Given the description of an element on the screen output the (x, y) to click on. 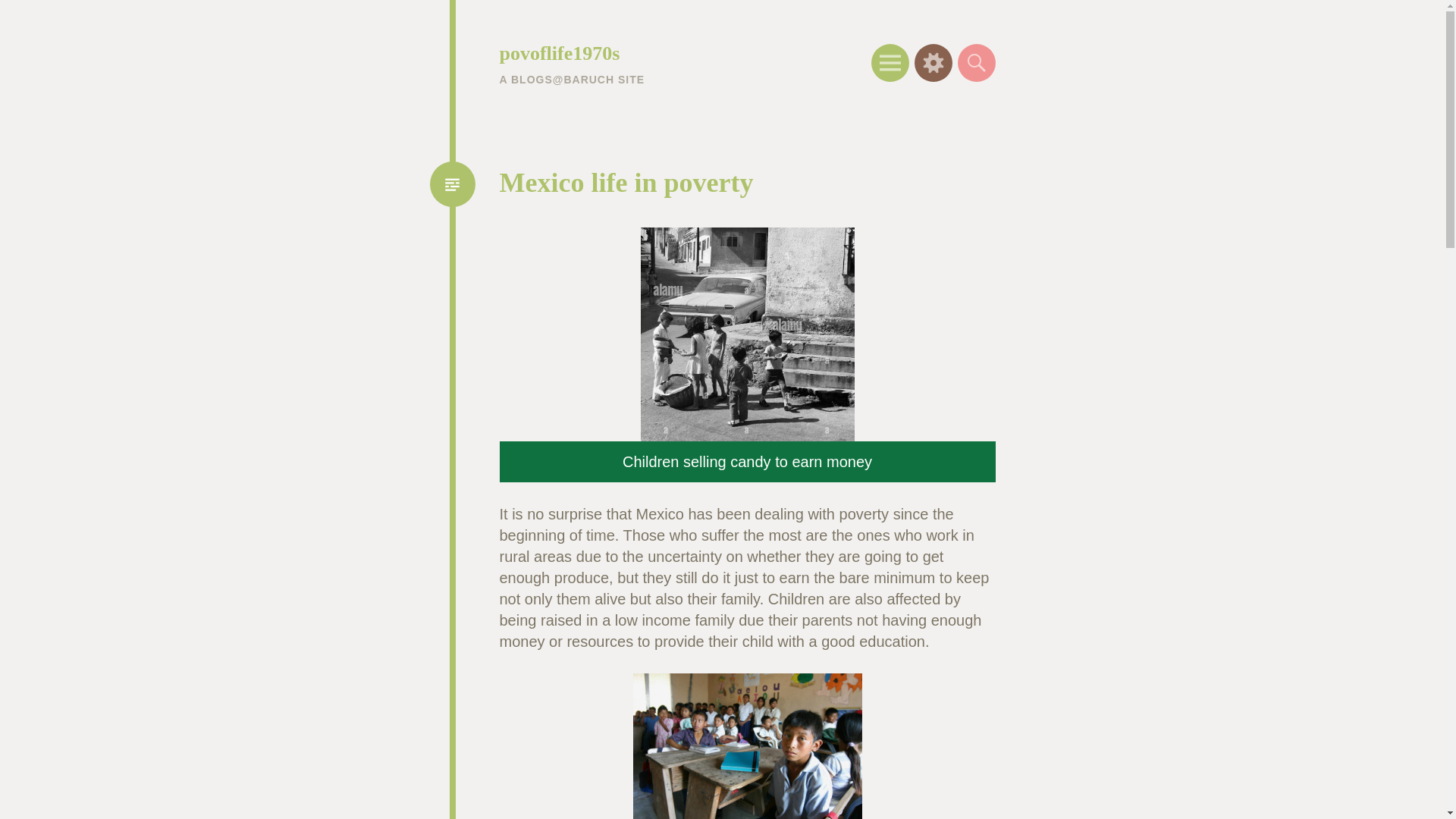
povoflife1970s (559, 53)
Widgets (933, 62)
Search (975, 62)
Menu (889, 62)
